Given the description of an element on the screen output the (x, y) to click on. 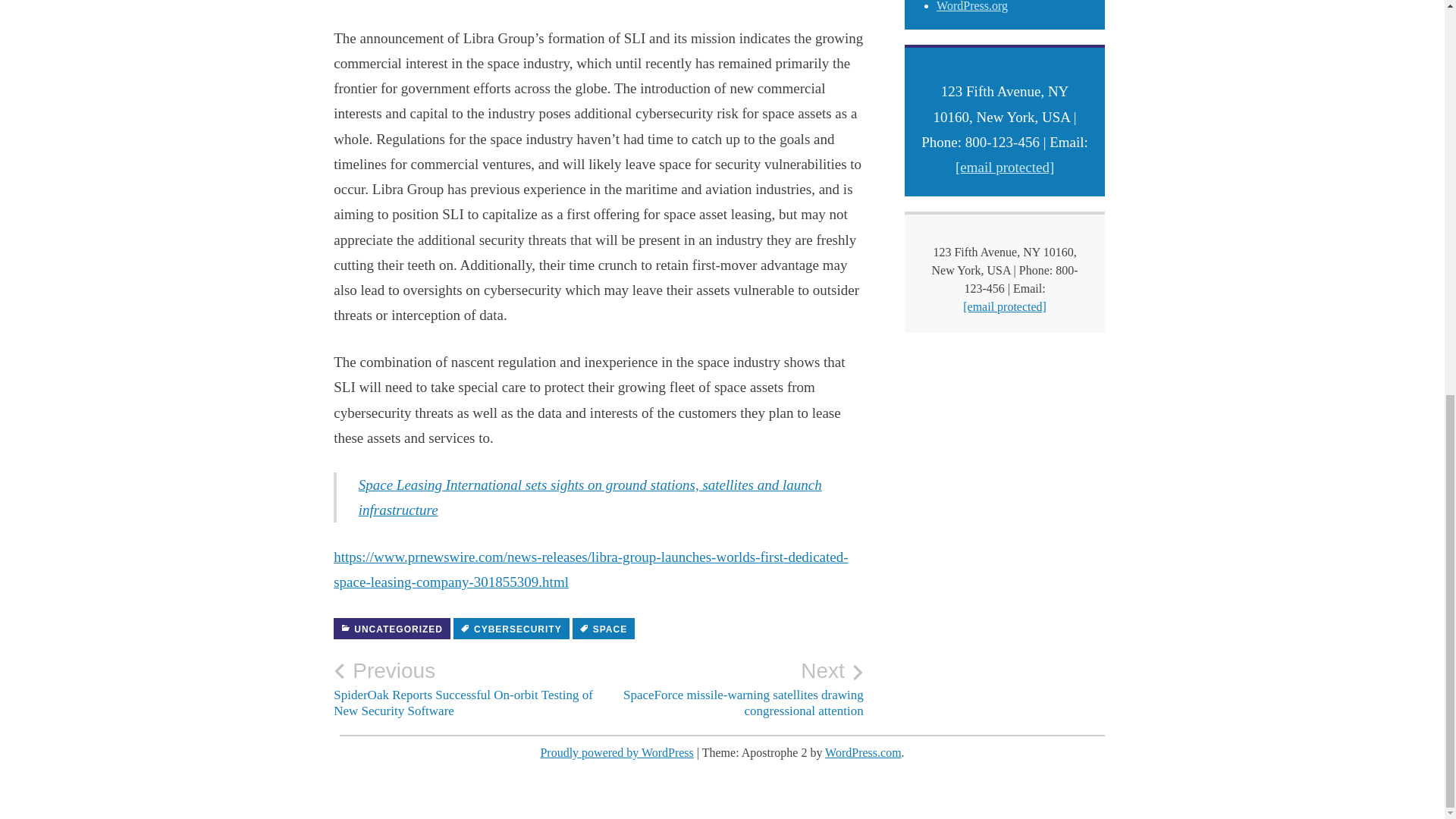
SPACE (603, 628)
WordPress.org (971, 6)
WordPress.com (863, 752)
Proudly powered by WordPress (616, 752)
CYBERSECURITY (510, 628)
UNCATEGORIZED (391, 628)
